Given the description of an element on the screen output the (x, y) to click on. 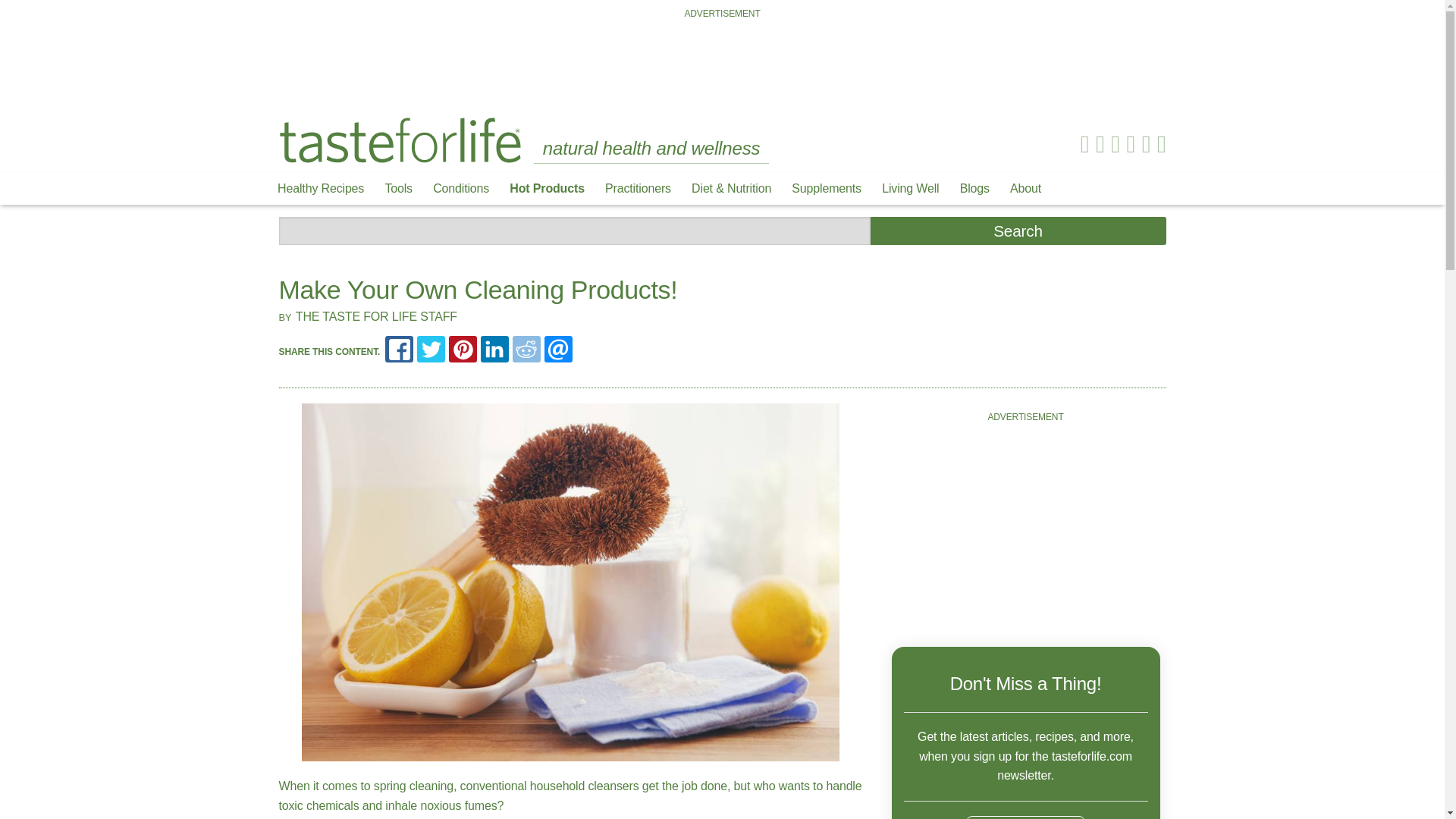
Enter the terms you wish to search for. (574, 230)
 Home (400, 138)
 Home (400, 140)
